Given the description of an element on the screen output the (x, y) to click on. 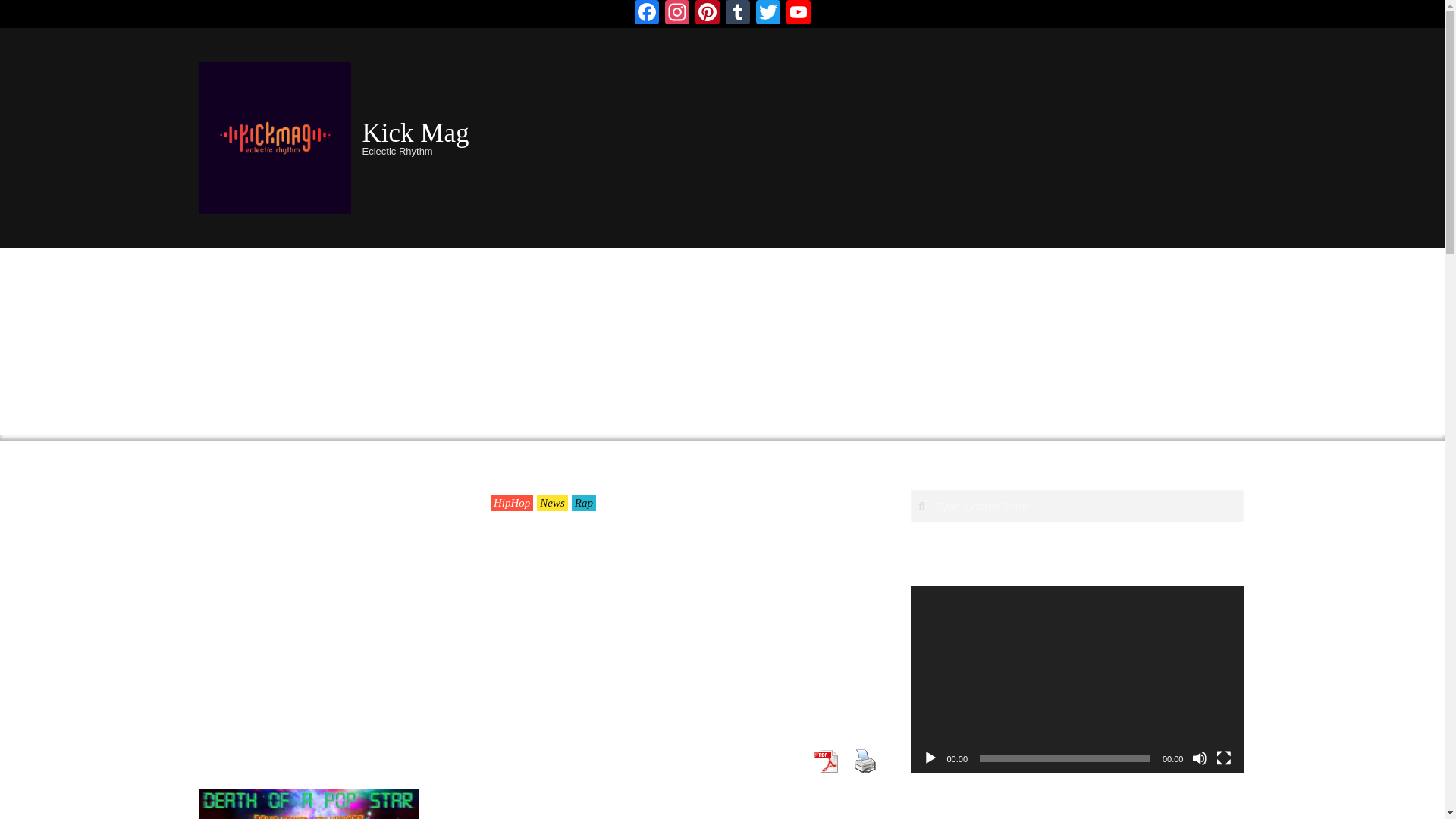
Facebook (645, 13)
Print Content (864, 761)
YouTube Channel (797, 13)
YouTube Channel (797, 13)
Tumblr (737, 13)
Rap (583, 503)
Advertisement (1127, 135)
Instagram (676, 13)
Twitter (767, 13)
Twitter (767, 13)
View PDF (825, 761)
Facebook (645, 13)
Tumblr (737, 13)
Kick Mag (415, 132)
Advertisement (314, 638)
